Given the description of an element on the screen output the (x, y) to click on. 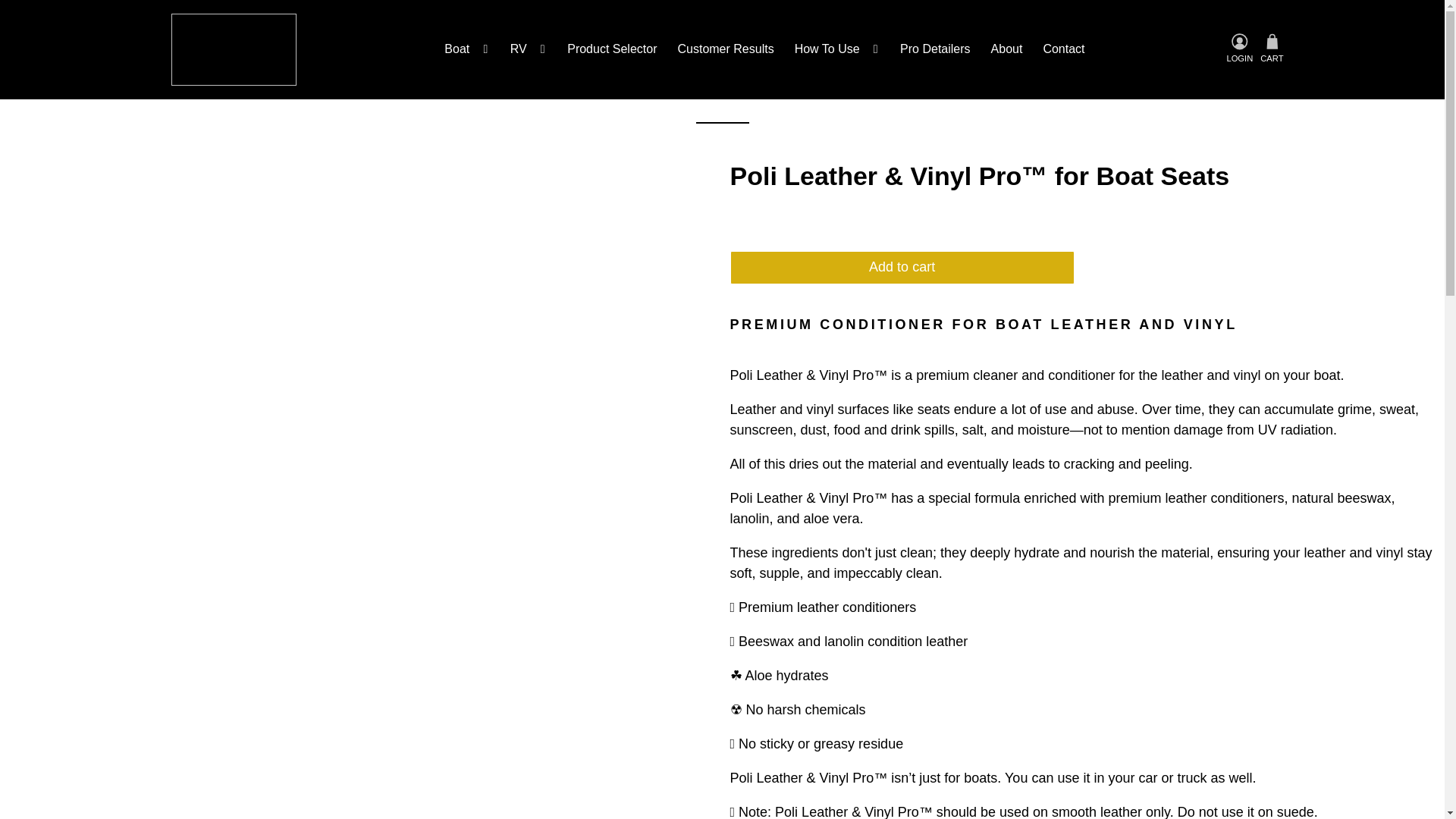
RV (527, 49)
PoliGlow (234, 49)
About (1005, 49)
Customer Results (725, 49)
Boat (466, 49)
How To Use (836, 49)
Contact (1063, 49)
Product Selector (611, 49)
Pro Detailers (934, 49)
